Given the description of an element on the screen output the (x, y) to click on. 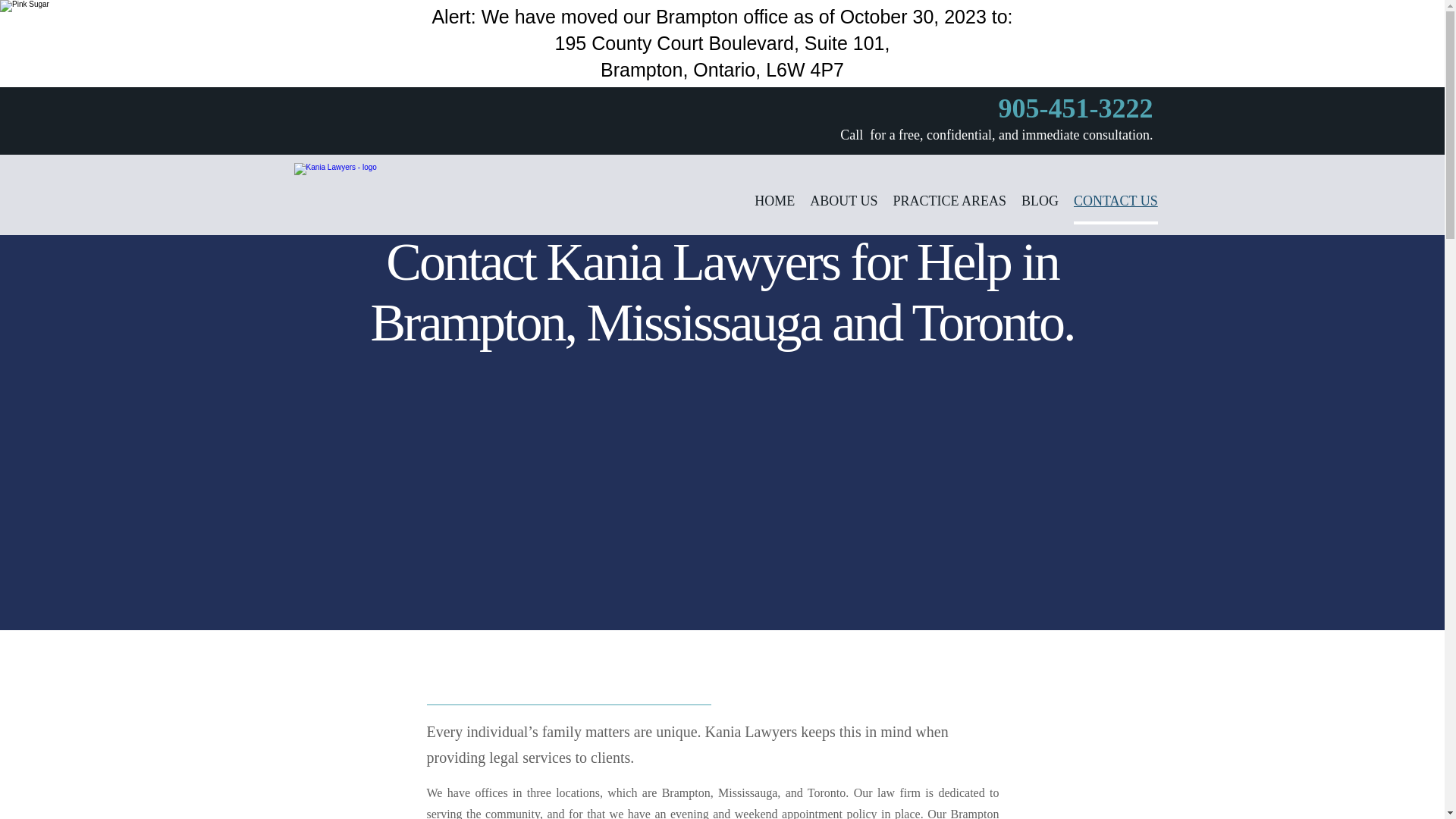
CONTACT US (1115, 208)
905-451-3222 (1075, 114)
BLOG (1040, 208)
HOME (774, 208)
PRACTICE AREAS (949, 208)
